Given the description of an element on the screen output the (x, y) to click on. 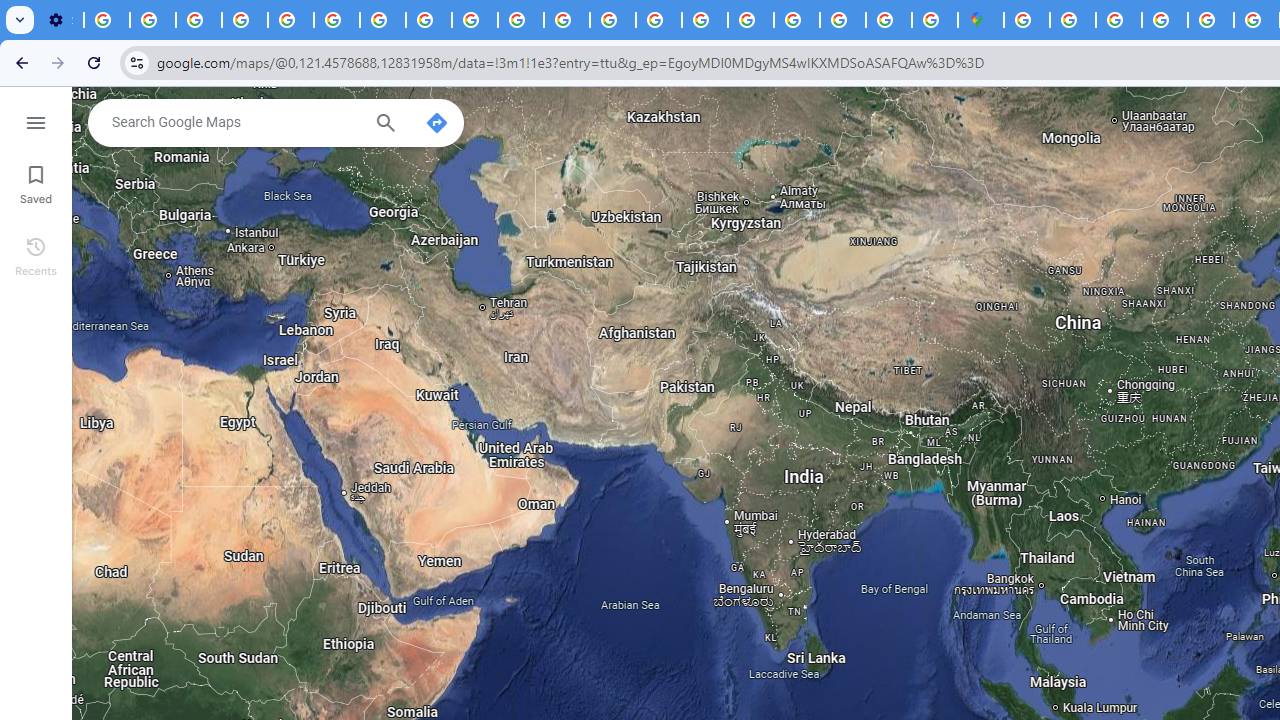
Privacy Checkup (474, 20)
Directions (436, 122)
Settings - Customize profile (60, 20)
Search (385, 125)
Delete photos & videos - Computer - Google Photos Help (107, 20)
